Given the description of an element on the screen output the (x, y) to click on. 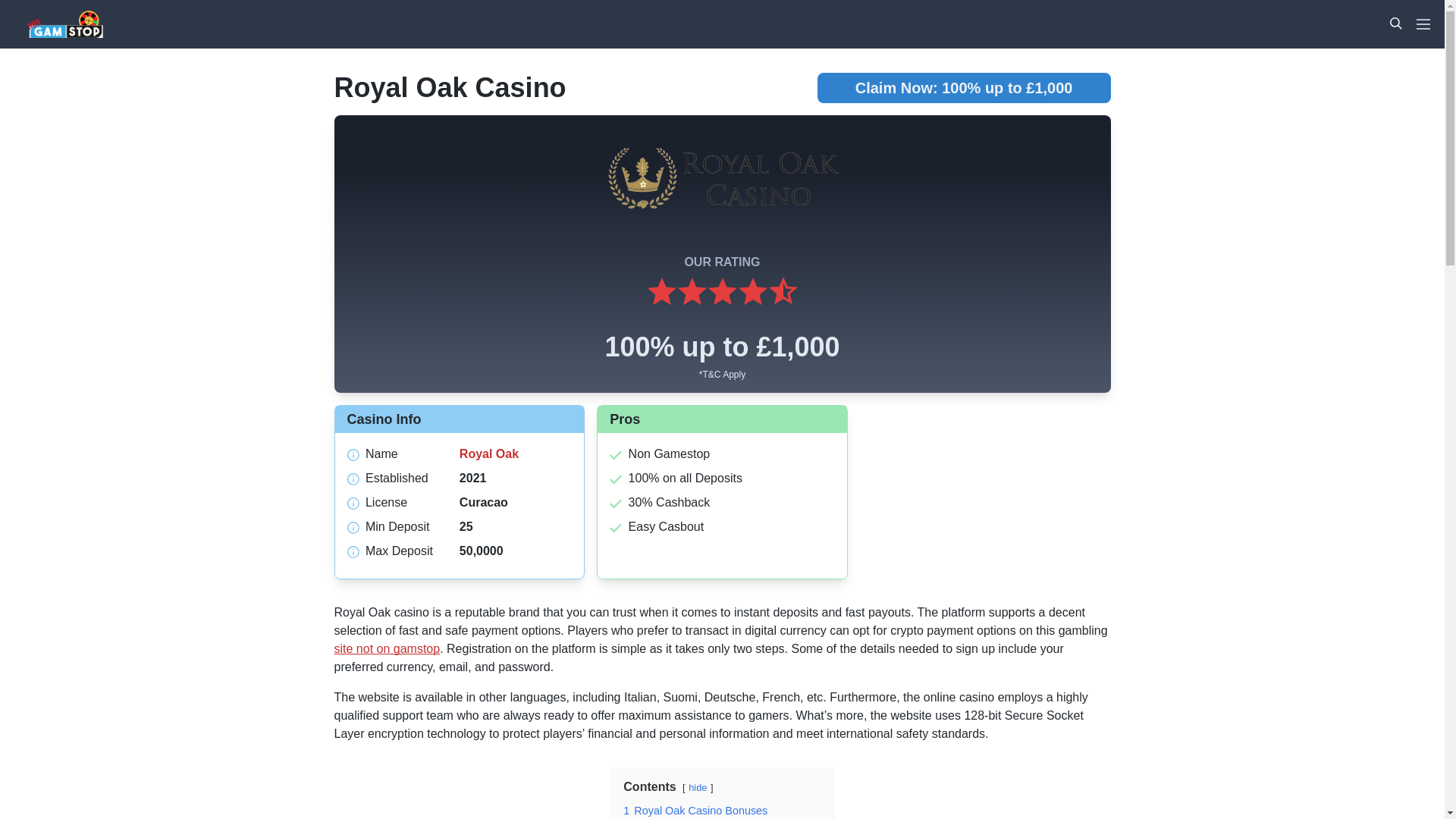
Search (1396, 23)
full star (751, 292)
sitesnotongamstop (95, 24)
full star (721, 292)
full star (691, 292)
Primary Menu (1422, 24)
full star (661, 292)
half empty star (782, 292)
